Given the description of an element on the screen output the (x, y) to click on. 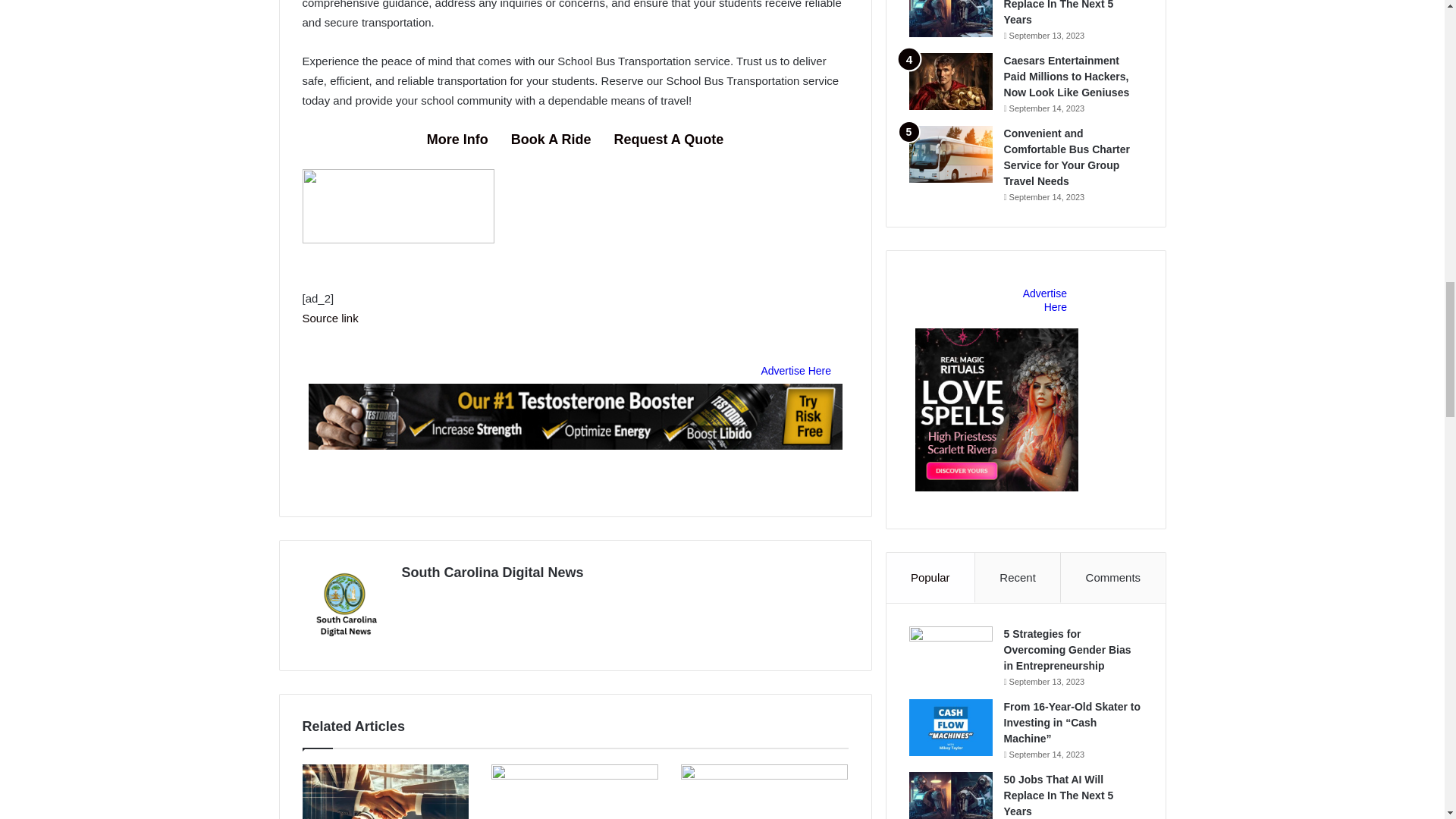
Request A Quote (668, 139)
Book A Ride (551, 139)
Agent 24x7 (397, 238)
More Info (456, 139)
